Given the description of an element on the screen output the (x, y) to click on. 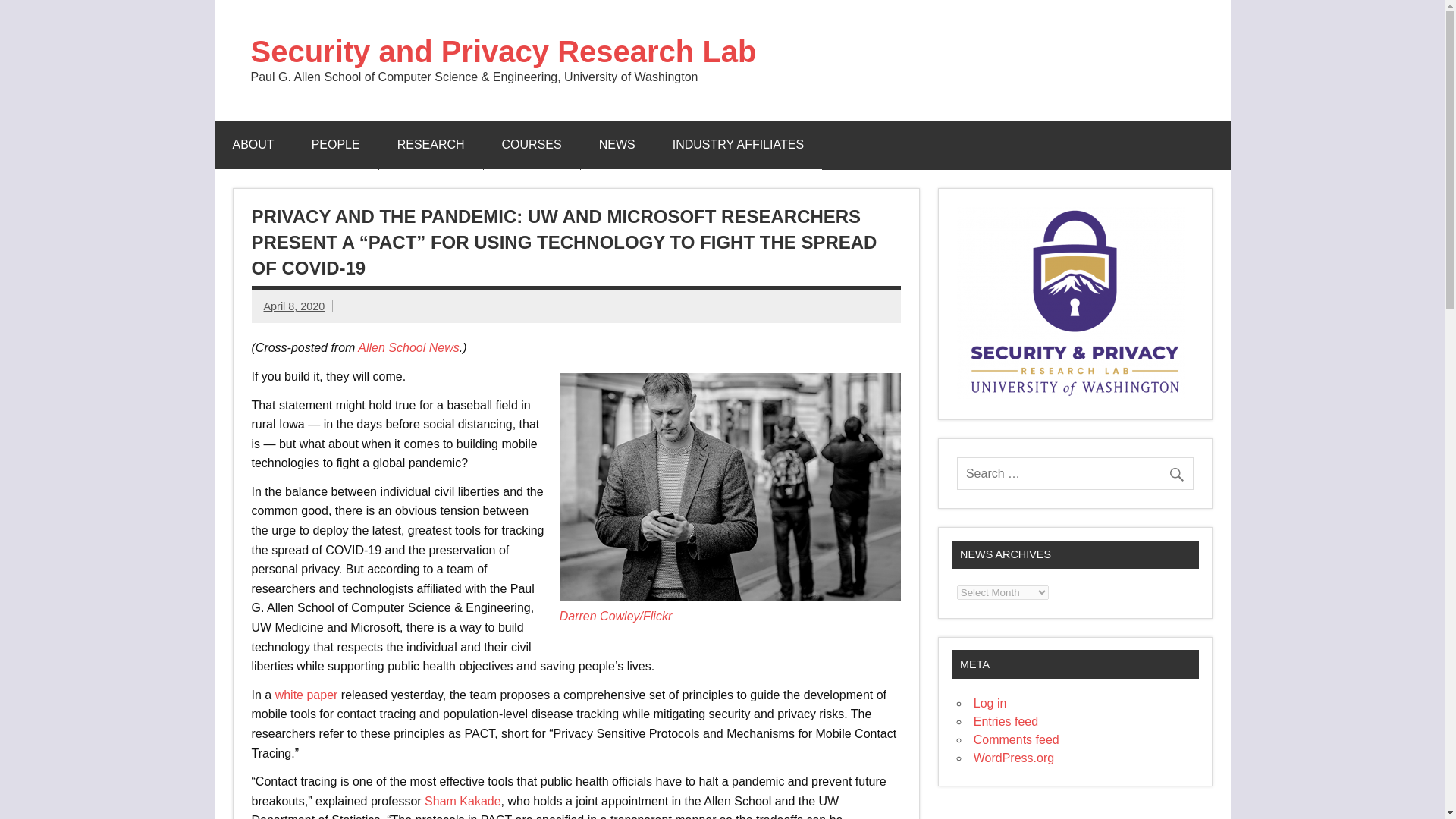
Allen School News (408, 347)
COURSES (531, 144)
Entries feed (1006, 721)
INDUSTRY AFFILIATES (737, 144)
RESEARCH (430, 144)
Security and Privacy Research Lab (502, 51)
Comments feed (1016, 739)
ABOUT (253, 144)
NEWS (616, 144)
8:23 pm (293, 306)
Log in (990, 703)
Sham Kakade (462, 800)
PEOPLE (336, 144)
white paper (306, 694)
WordPress.org (1014, 757)
